Given the description of an element on the screen output the (x, y) to click on. 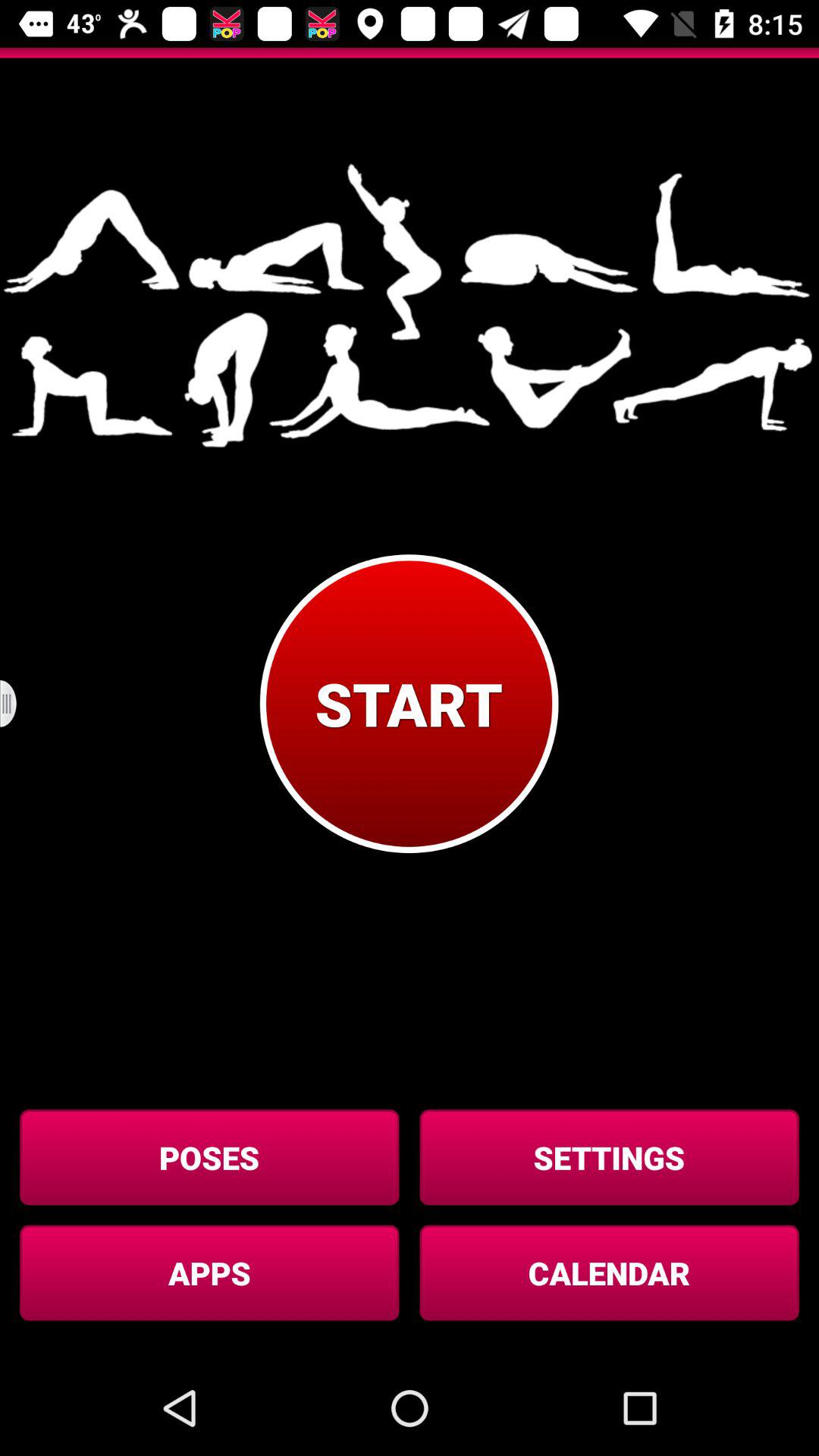
turn on button to the left of the settings icon (209, 1157)
